Given the description of an element on the screen output the (x, y) to click on. 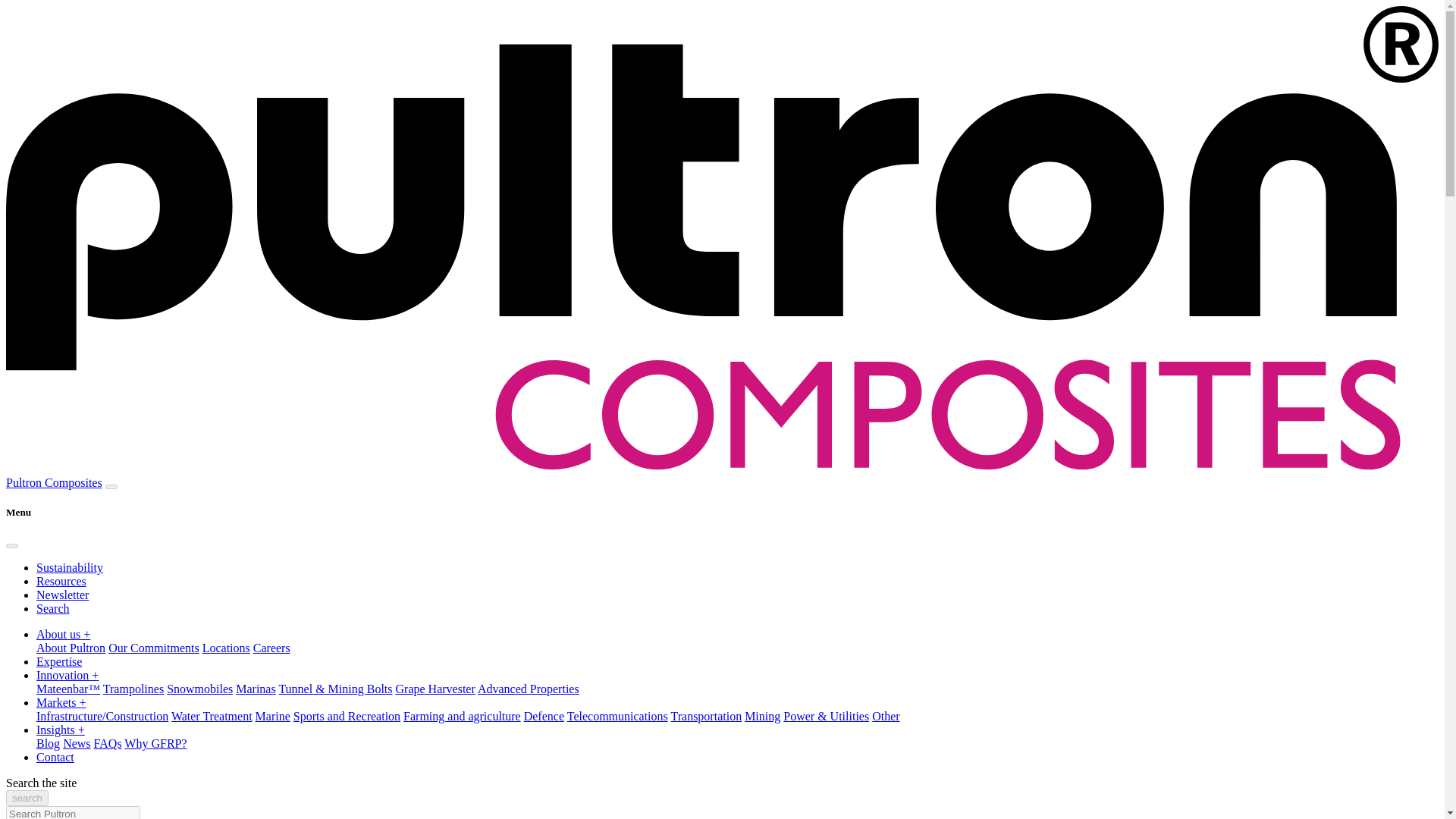
Telecommunications (617, 716)
Marine (272, 716)
search (26, 797)
Locations (226, 647)
Expertise (58, 661)
Defence (544, 716)
News (76, 743)
Why GFRP? (154, 743)
Contact (55, 757)
Sports and Recreation (347, 716)
